Given the description of an element on the screen output the (x, y) to click on. 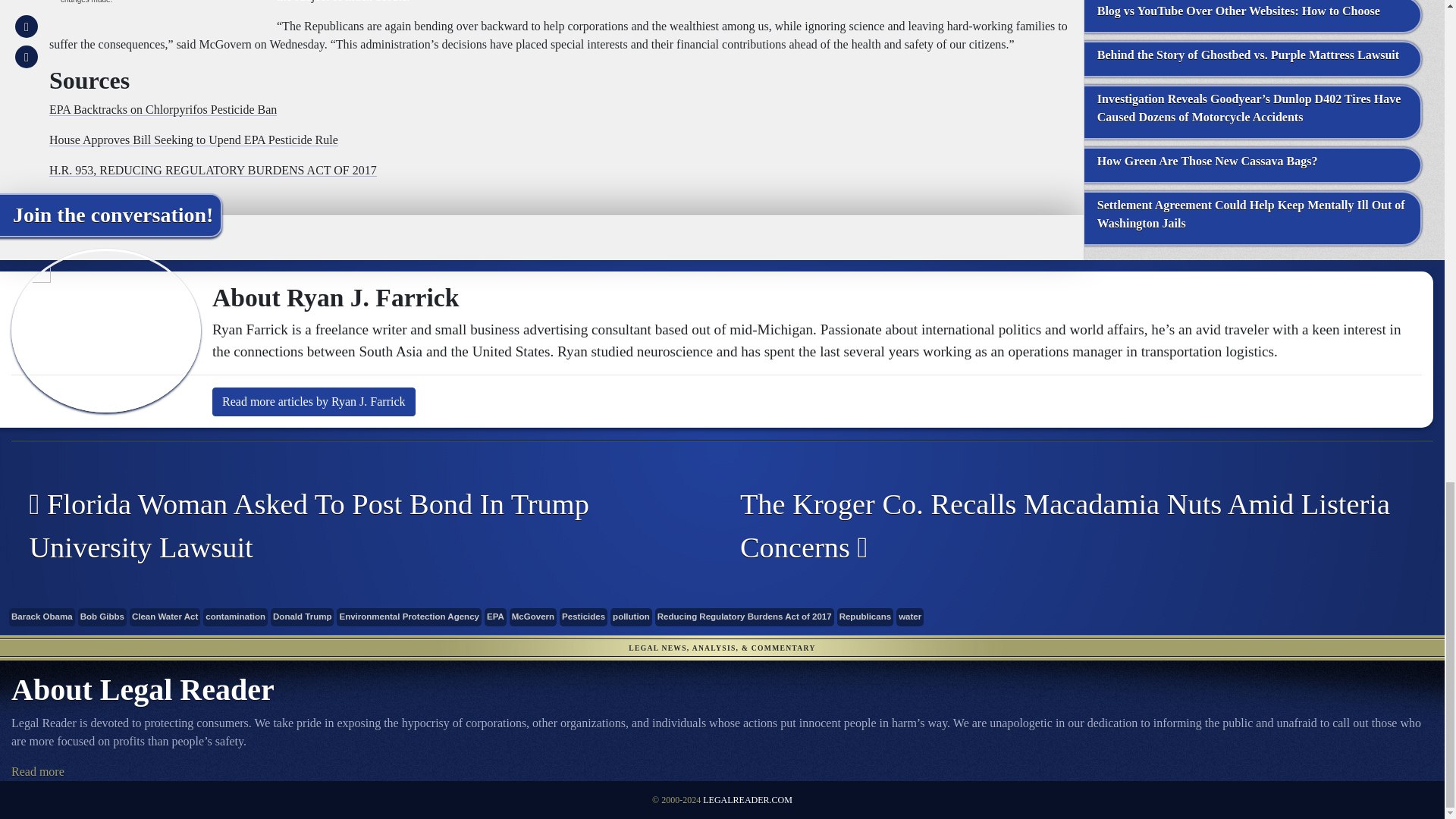
House Approves Bill Seeking to Upend EPA Pesticide Rule (193, 139)
Donald Trump (301, 616)
EPA Backtracks on Chlorpyrifos Pesticide Ban (162, 109)
EPA (495, 616)
contamination (235, 616)
McGovern (532, 616)
H.R. 953, REDUCING REGULATORY BURDENS ACT OF 2017 (213, 169)
Read more articles by Ryan J. Farrick (313, 401)
Barack Obama (41, 616)
Read more articles by Ryan J. Farrick (313, 401)
Clean Water Act (164, 616)
Environmental Protection Agency (408, 616)
Bob Gibbs (102, 616)
